Given the description of an element on the screen output the (x, y) to click on. 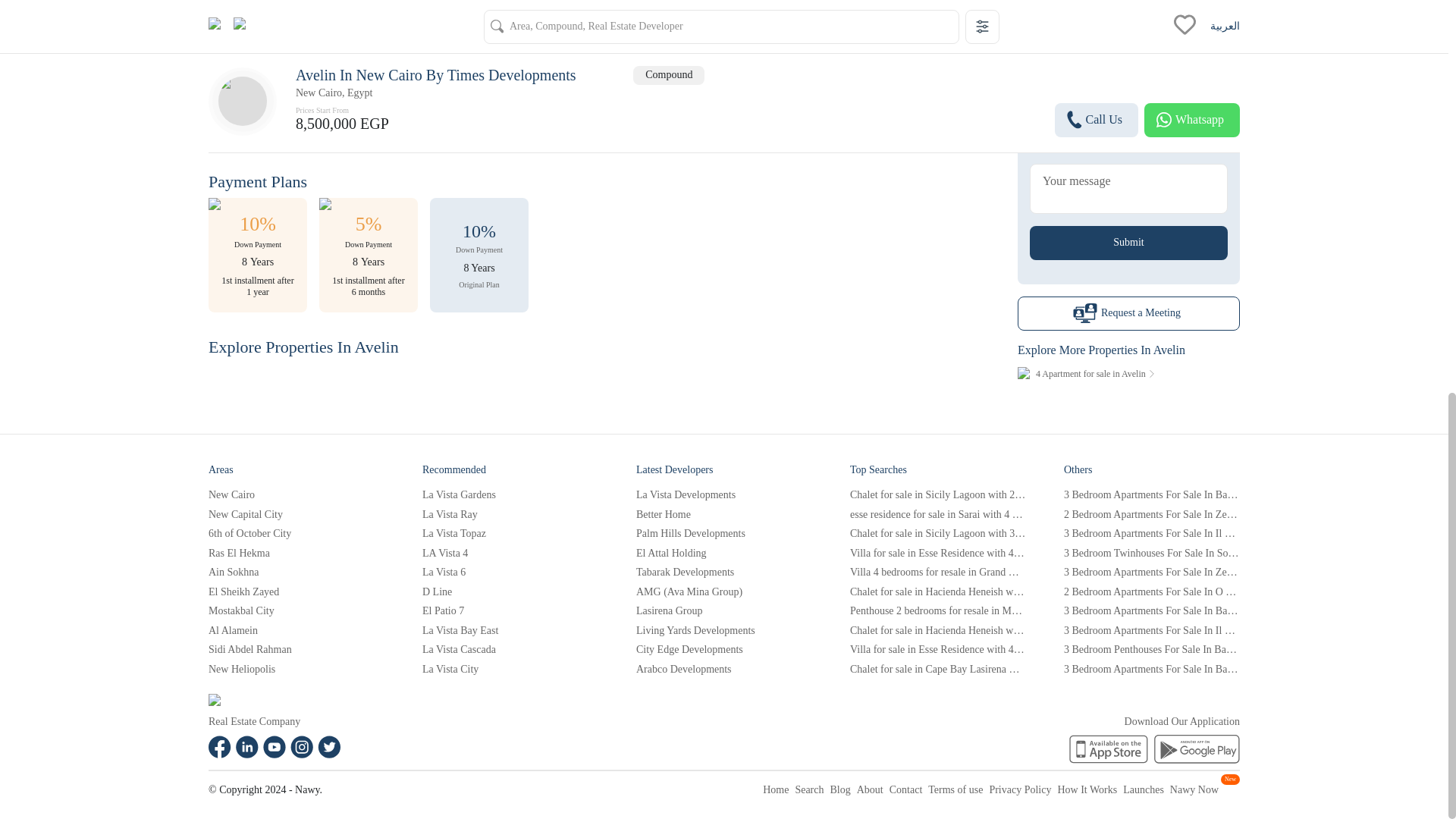
La Vista Bay East (510, 631)
La Vista Topaz (510, 533)
El Attal Holding (724, 553)
Request a Meeting (1128, 310)
Palm Hills Developments (724, 533)
La Vista Developments (724, 495)
La Vista 6 (510, 572)
New Capital City (296, 513)
LA Vista 4 (510, 553)
La Vista Gardens (510, 495)
La Vista City (510, 668)
New Cairo (296, 495)
Better Home (724, 513)
Tabarak Developments (724, 572)
Lasirena Group (724, 611)
